Given the description of an element on the screen output the (x, y) to click on. 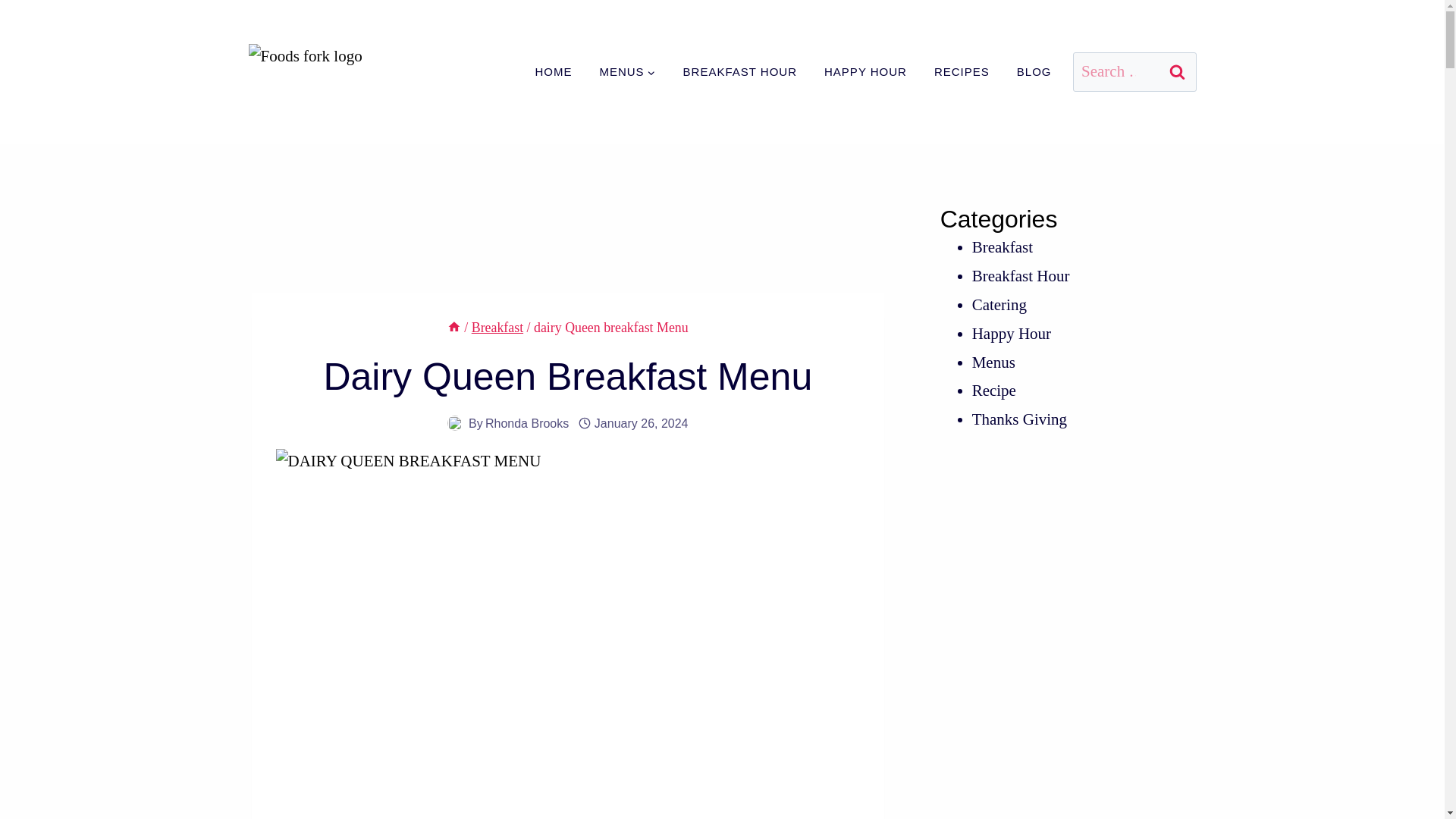
MENUS (626, 71)
BLOG (1034, 71)
Rhonda Brooks (526, 422)
HAPPY HOUR (865, 71)
Search (1177, 72)
Breakfast (496, 327)
Search (1177, 72)
Home (453, 327)
HOME (553, 71)
Search (1177, 72)
BREAKFAST HOUR (739, 71)
RECIPES (961, 71)
